Given the description of an element on the screen output the (x, y) to click on. 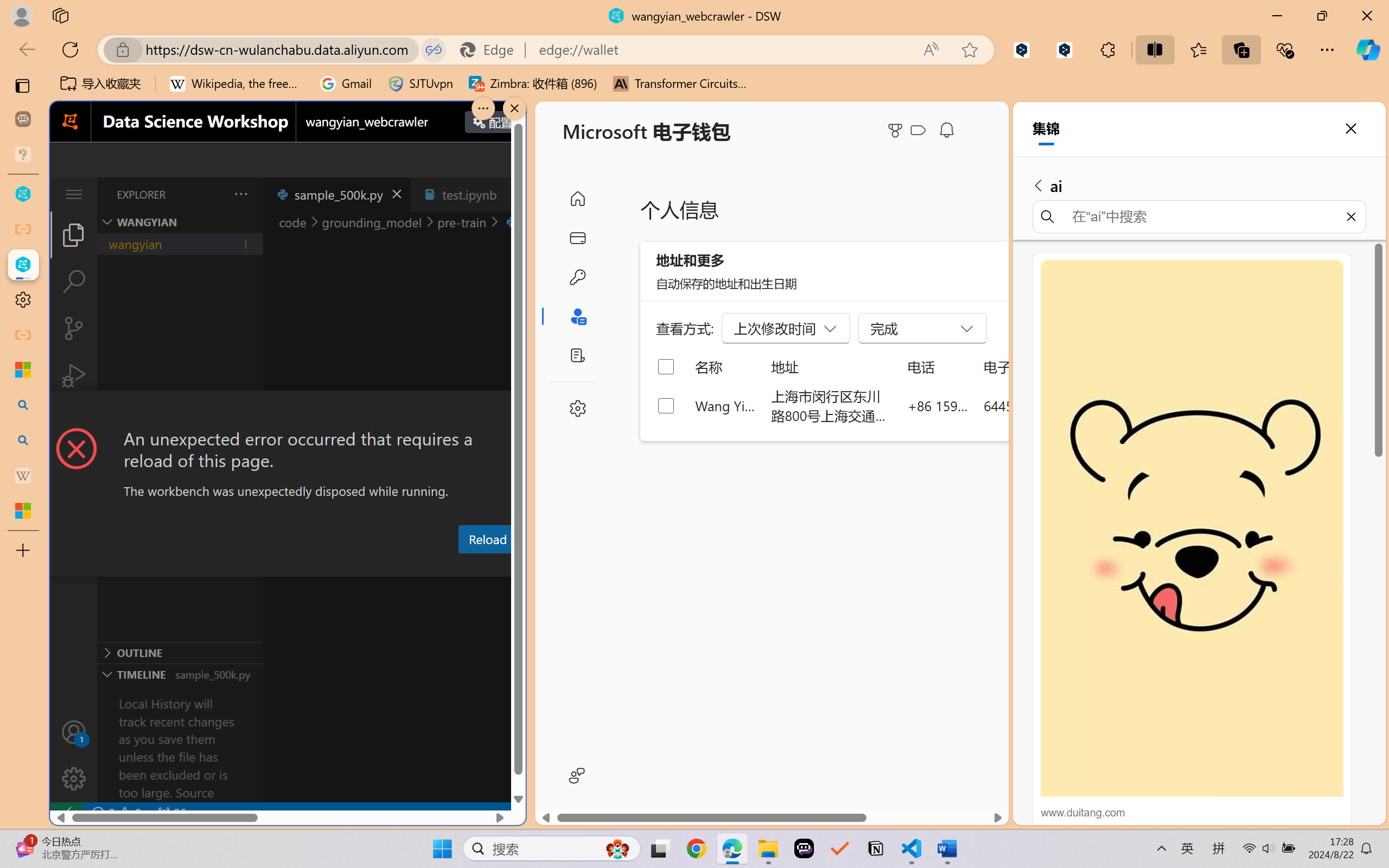
Explorer actions (212, 194)
644553698@qq.com (1043, 405)
test.ipynb (468, 194)
Gmail (345, 83)
